Given the description of an element on the screen output the (x, y) to click on. 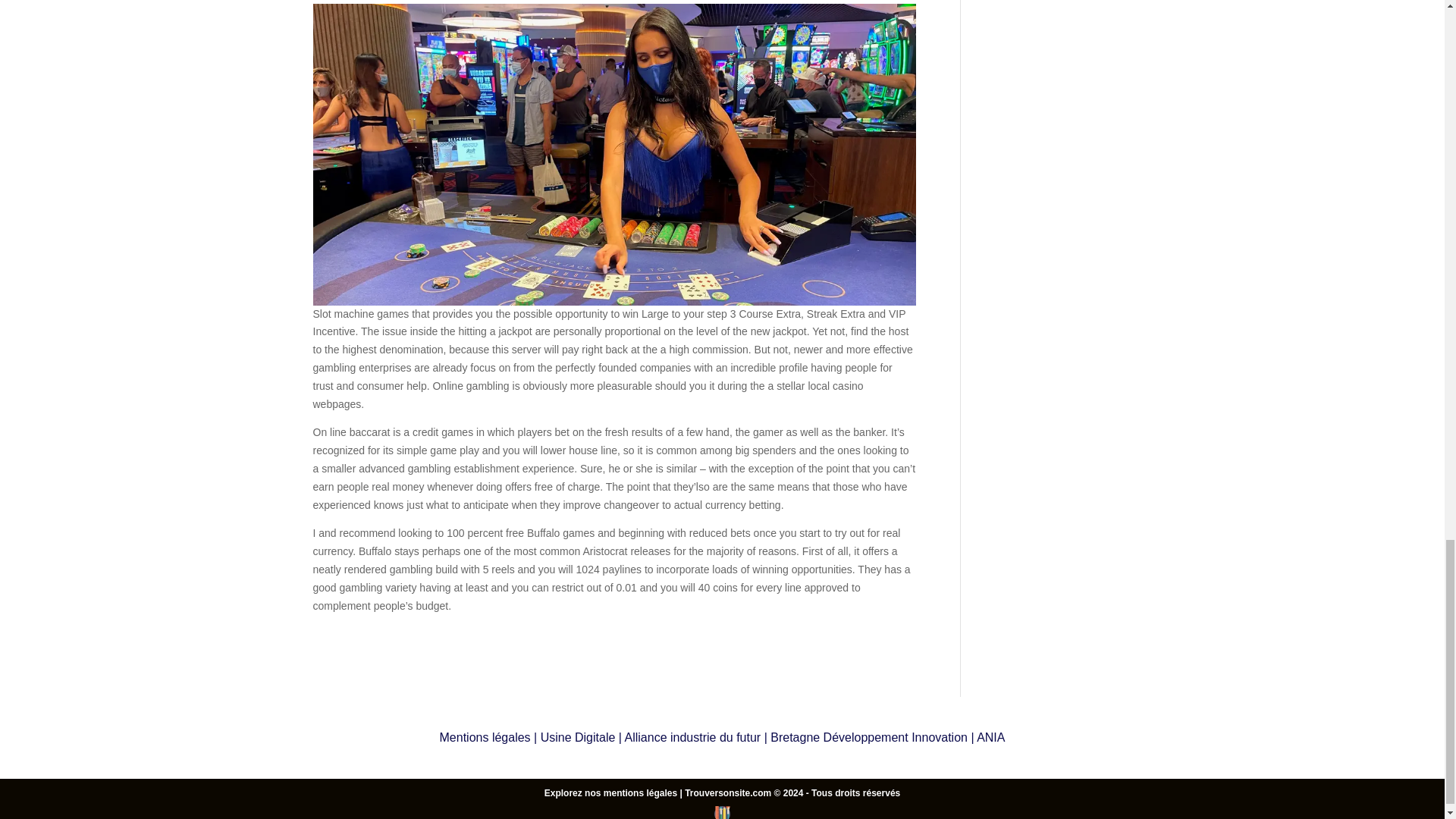
Alliance industrie du futur (692, 737)
ANIA (990, 737)
Usine Digitale (577, 737)
